Given the description of an element on the screen output the (x, y) to click on. 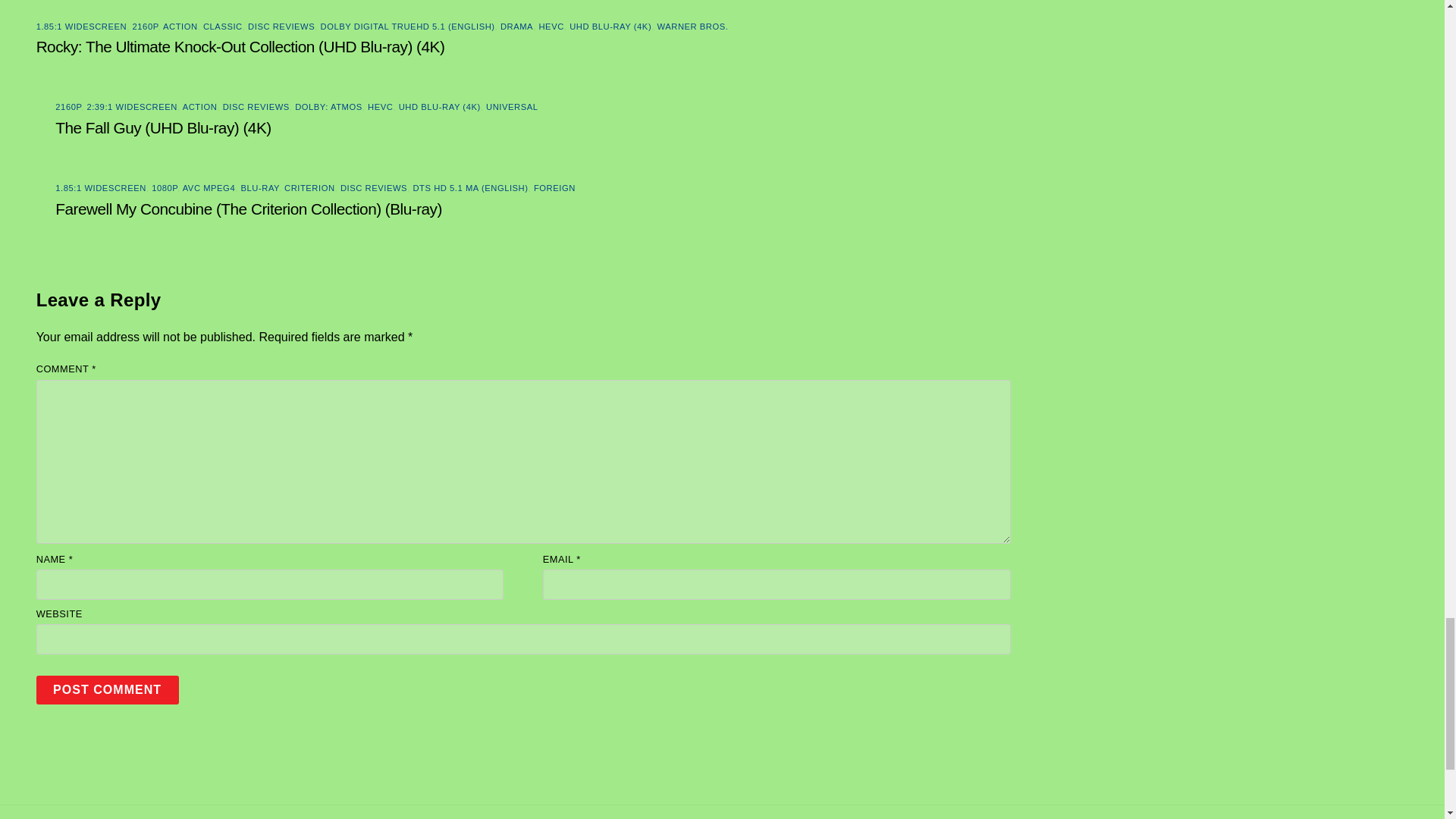
2:39:1 WIDESCREEN (131, 106)
HEVC (550, 26)
ACTION (180, 26)
1.85:1 WIDESCREEN (82, 26)
UNIVERSAL (511, 106)
DRAMA (516, 26)
Post Comment (107, 689)
DISC REVIEWS (255, 106)
HEVC (380, 106)
DOLBY: ATMOS (328, 106)
1080P (164, 187)
2160P (145, 26)
2160P (68, 106)
CLASSIC (223, 26)
WARNER BROS. (693, 26)
